Given the description of an element on the screen output the (x, y) to click on. 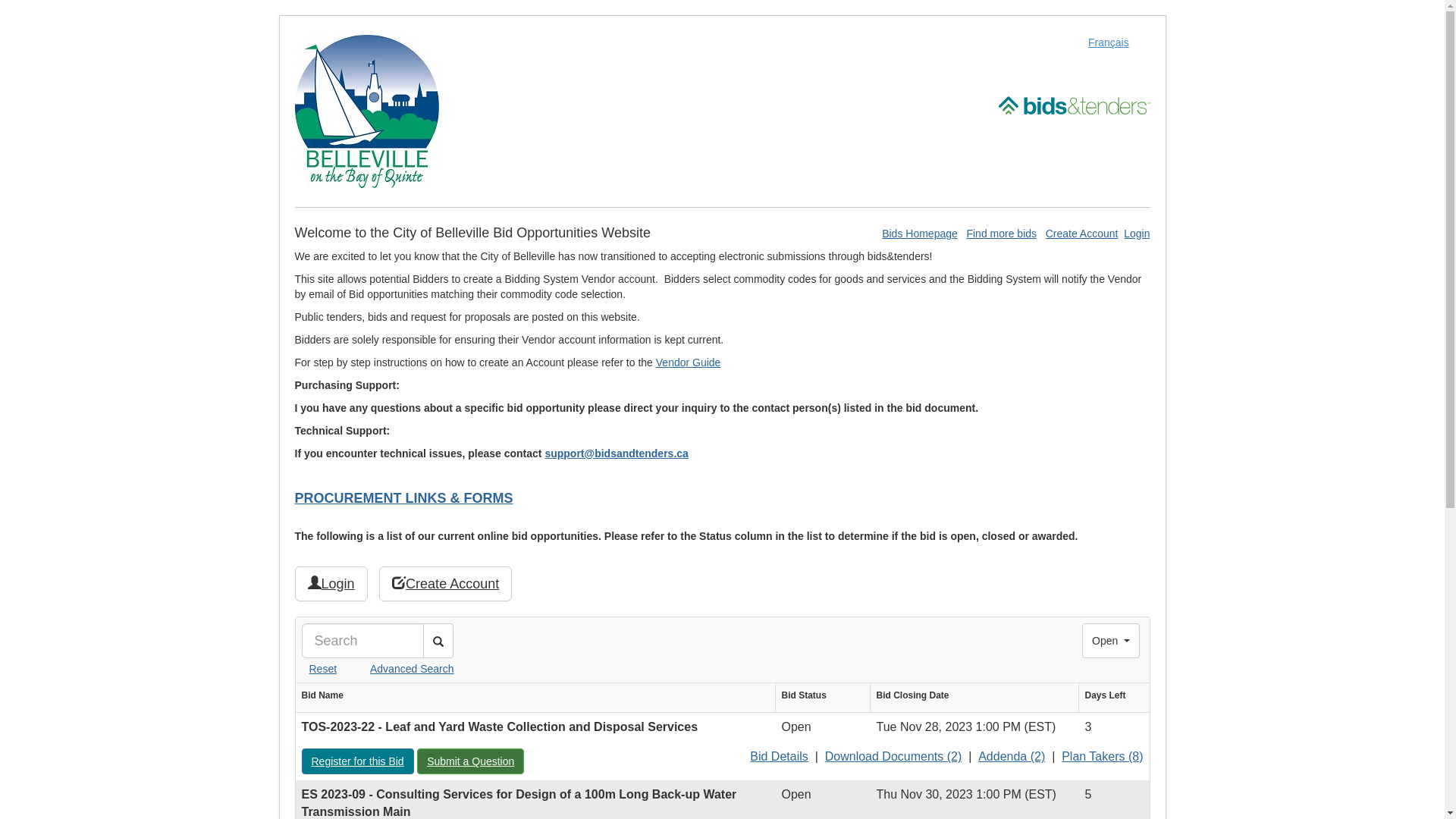
Login Element type: text (330, 583)
Create Account Element type: text (445, 583)
Open
Toggle Filters Element type: text (1110, 640)
Advanced Search Element type: text (396, 668)
Open Bids and Tenders site in a new window Element type: hover (1073, 104)
Login Element type: text (1136, 233)
Skip to Content (Press Enter) Element type: text (0, 0)
Reset Element type: text (319, 668)
Bids Homepage Element type: text (919, 233)
Create Account Element type: text (1081, 233)
Search Element type: text (438, 640)
Find more bids Element type: text (1001, 233)
Open City of Belleville site in a new window Element type: hover (366, 110)
support@bidsandtenders.ca Element type: text (615, 453)
PROCUREMENT LINKS & FORMS Element type: text (403, 497)
Vendor Guide Element type: text (688, 362)
